Given the description of an element on the screen output the (x, y) to click on. 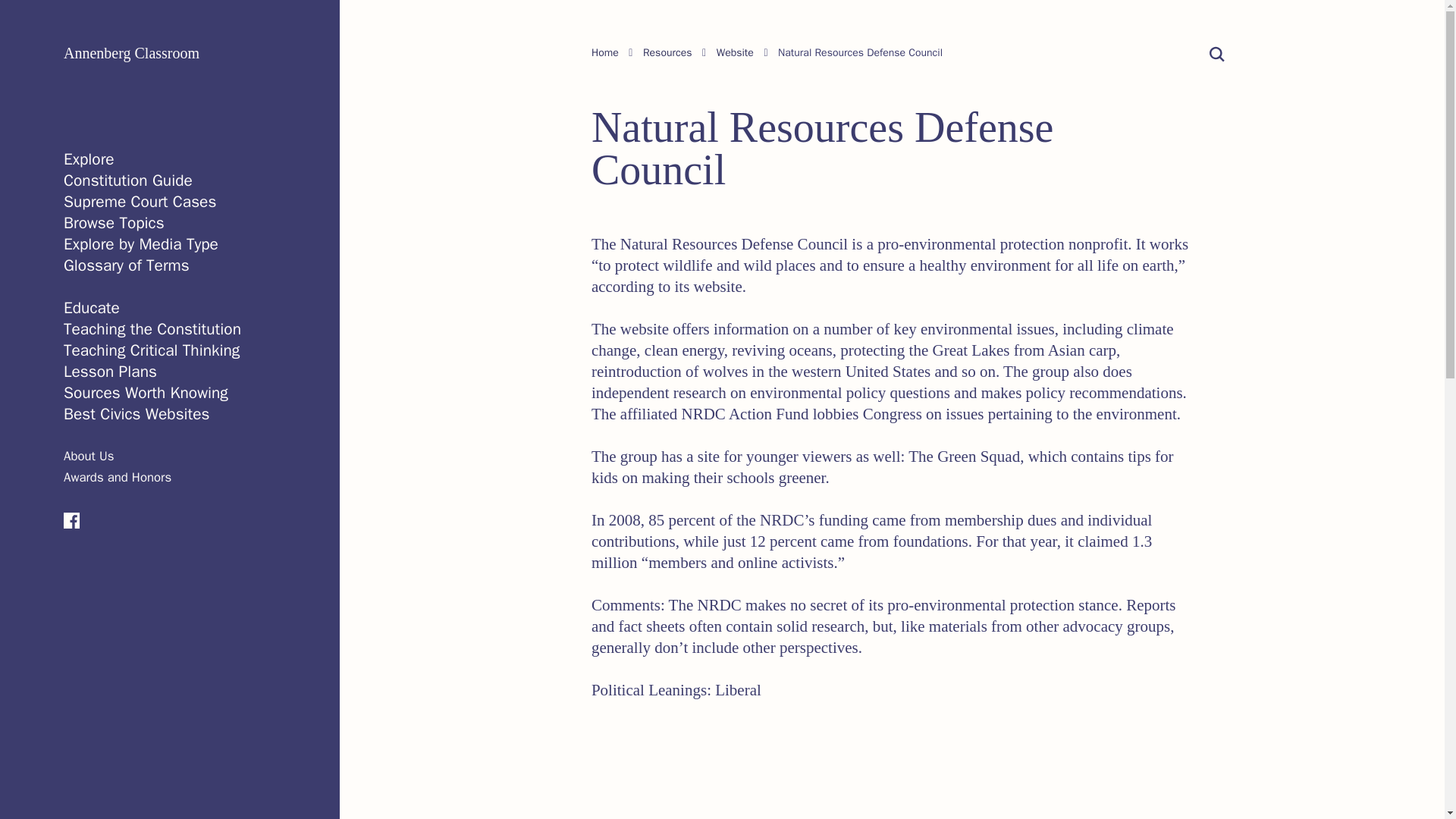
Glossary of Terms (126, 265)
Lesson Plans (110, 371)
Educate (91, 307)
Constitution Guide (128, 179)
Website (735, 51)
About Us (88, 455)
Awards and Honors (117, 477)
Browse Topics (114, 222)
Explore (89, 158)
Explore (89, 158)
Best Civics Websites (136, 414)
Lesson Plans (110, 371)
Teaching the Constitution (152, 328)
Glossary of Terms (126, 265)
